Given the description of an element on the screen output the (x, y) to click on. 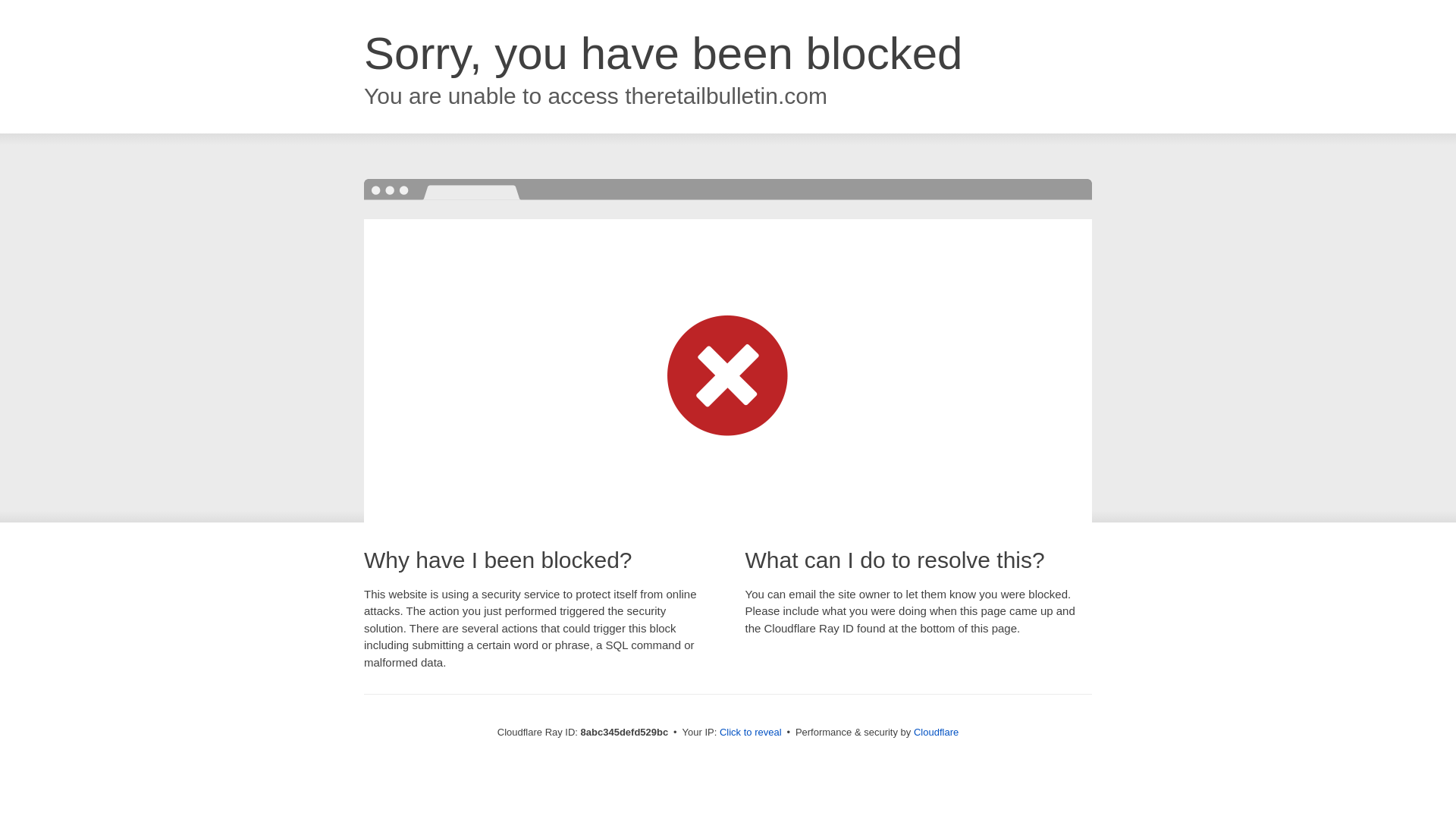
Click to reveal (750, 732)
Cloudflare (936, 731)
